Given the description of an element on the screen output the (x, y) to click on. 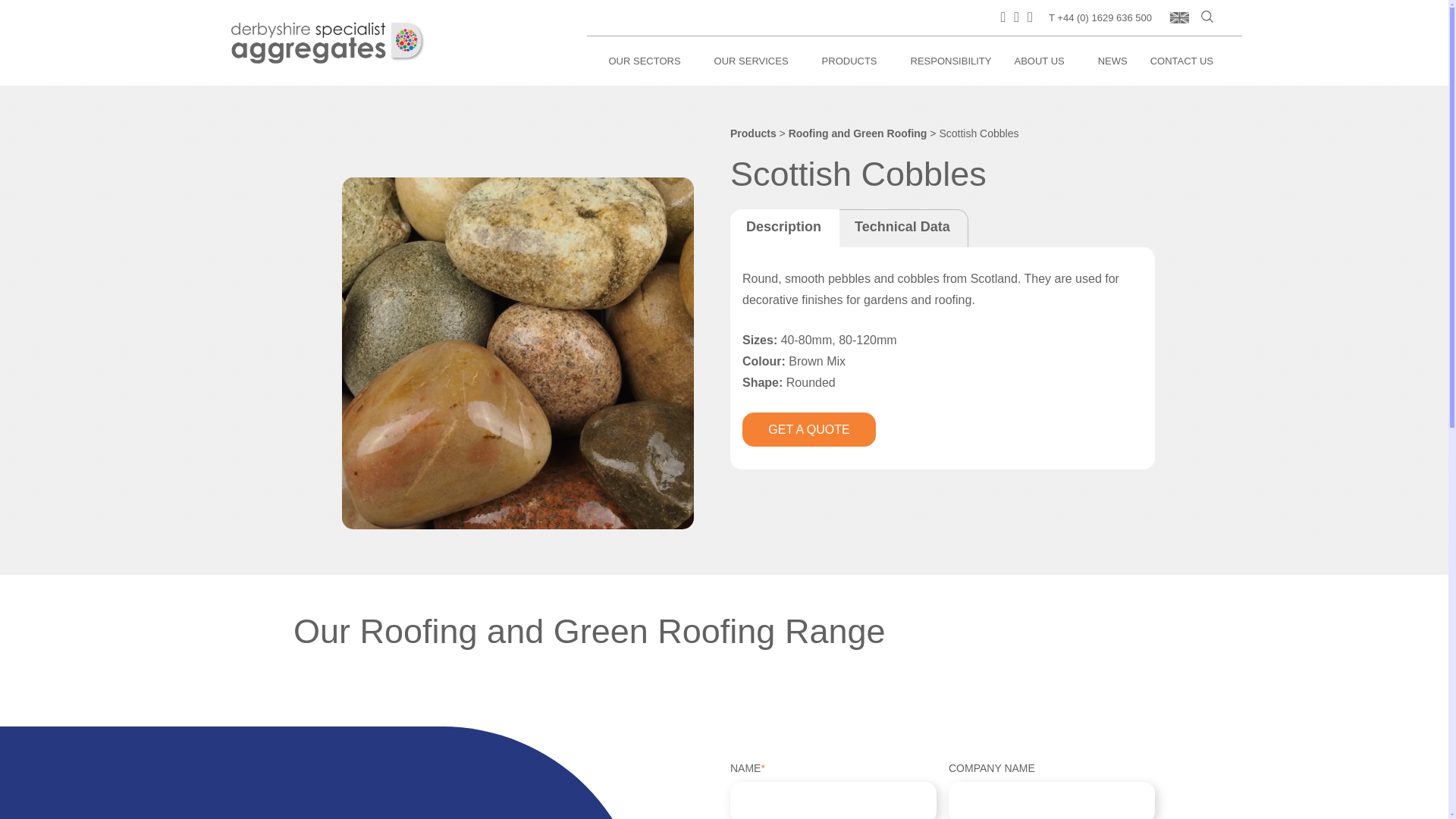
Go to Roofing and Green Roofing. (858, 133)
PRODUCTS (855, 61)
Go to Products. (753, 133)
OUR SERVICES (756, 61)
ABOUT US (1043, 61)
RESPONSIBILITY (951, 61)
OUR SECTORS (649, 61)
